Given the description of an element on the screen output the (x, y) to click on. 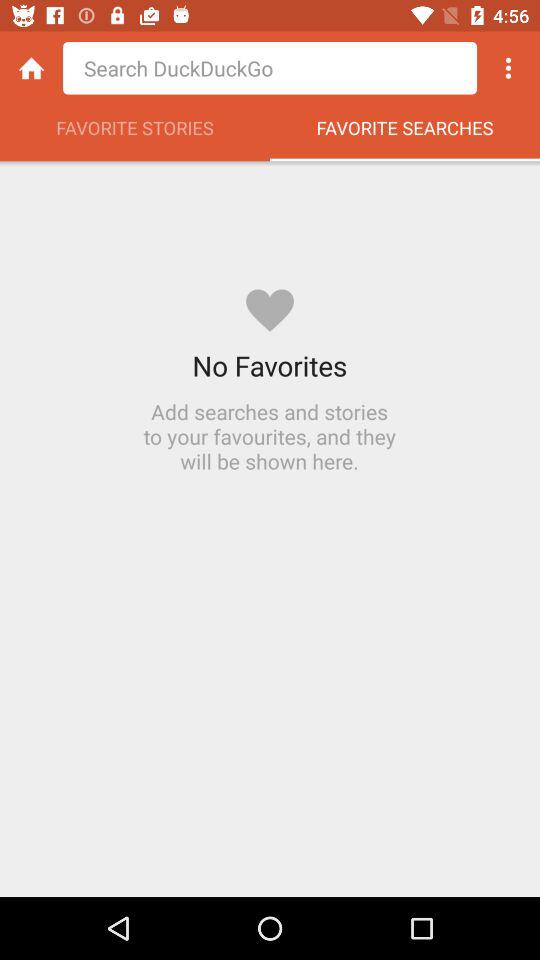
turn on item to the left of the favorite searches app (135, 133)
